Given the description of an element on the screen output the (x, y) to click on. 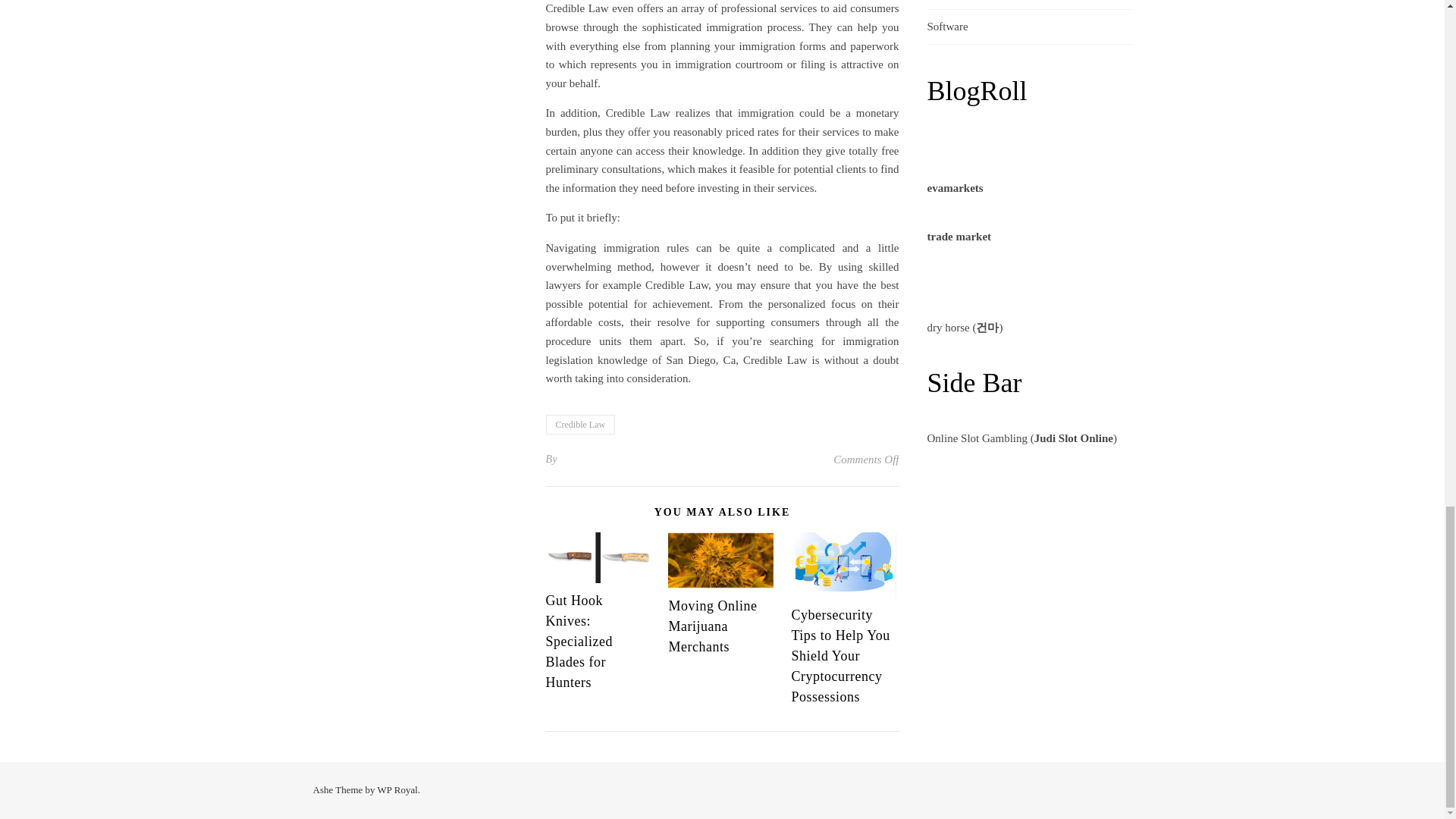
Moving Online Marijuana Merchants (712, 626)
trade market (958, 236)
Software (947, 26)
Social Media (956, 4)
evamarkets (954, 187)
Credible Law (580, 424)
